Given the description of an element on the screen output the (x, y) to click on. 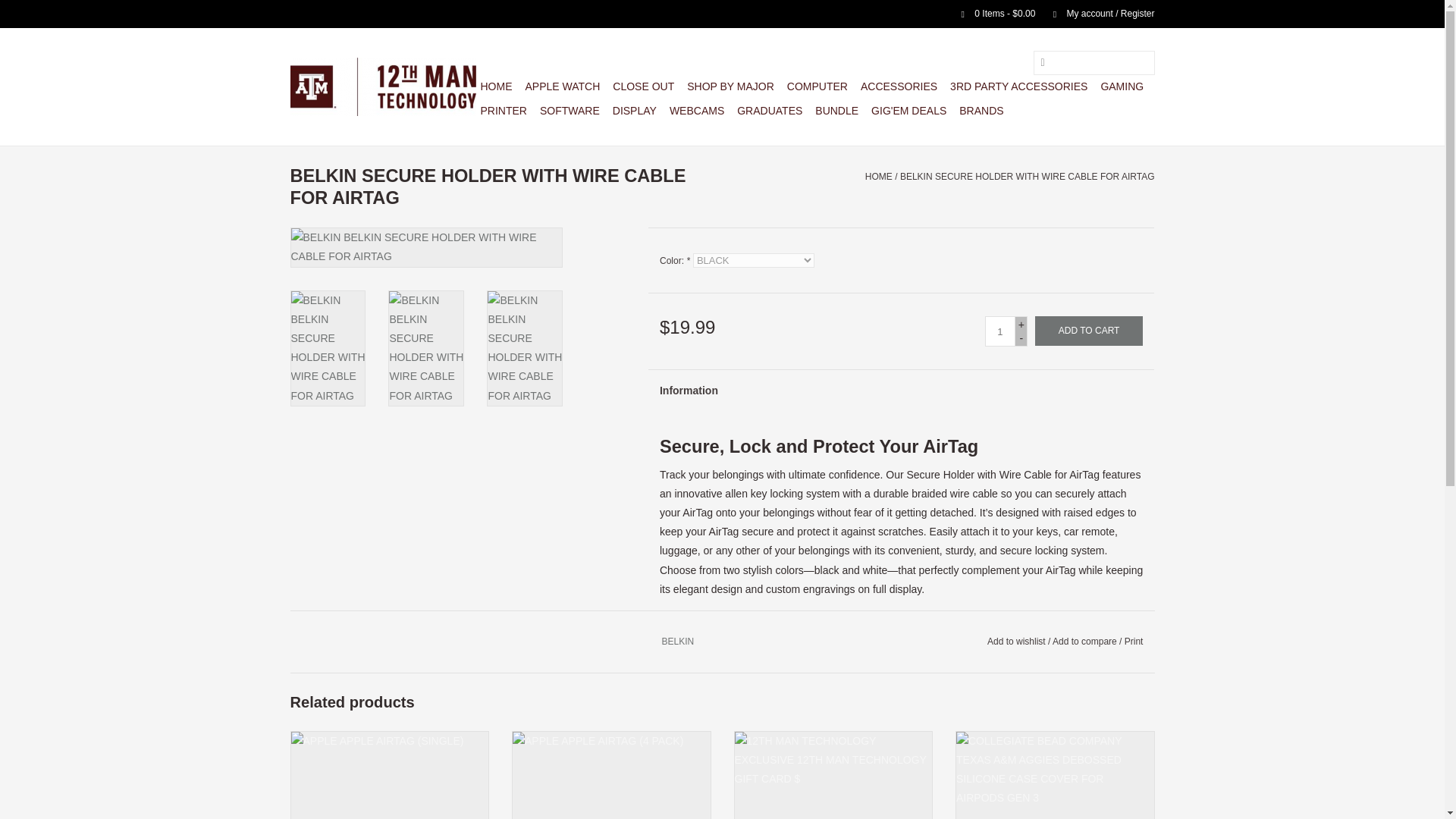
HOME (496, 86)
3RD PARTY ACCESSORIES (1018, 86)
12th Man Technology (382, 86)
CLOSE OUT (643, 86)
Shop By Major (730, 86)
ACCESSORIES (899, 86)
Cart (992, 13)
1 (999, 331)
My account (1096, 13)
APPLE WATCH (561, 86)
